Given the description of an element on the screen output the (x, y) to click on. 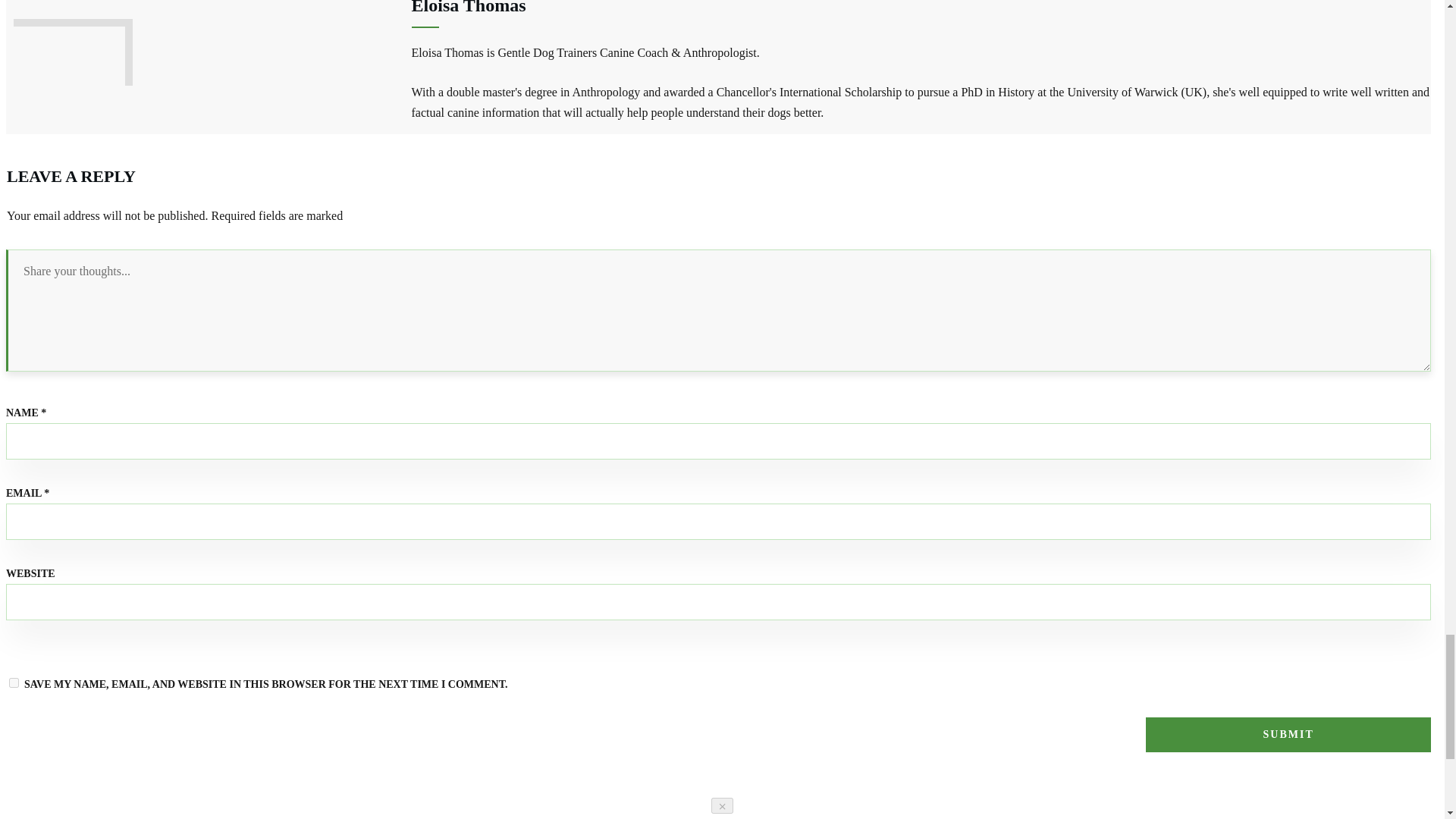
yes (13, 682)
